Given the description of an element on the screen output the (x, y) to click on. 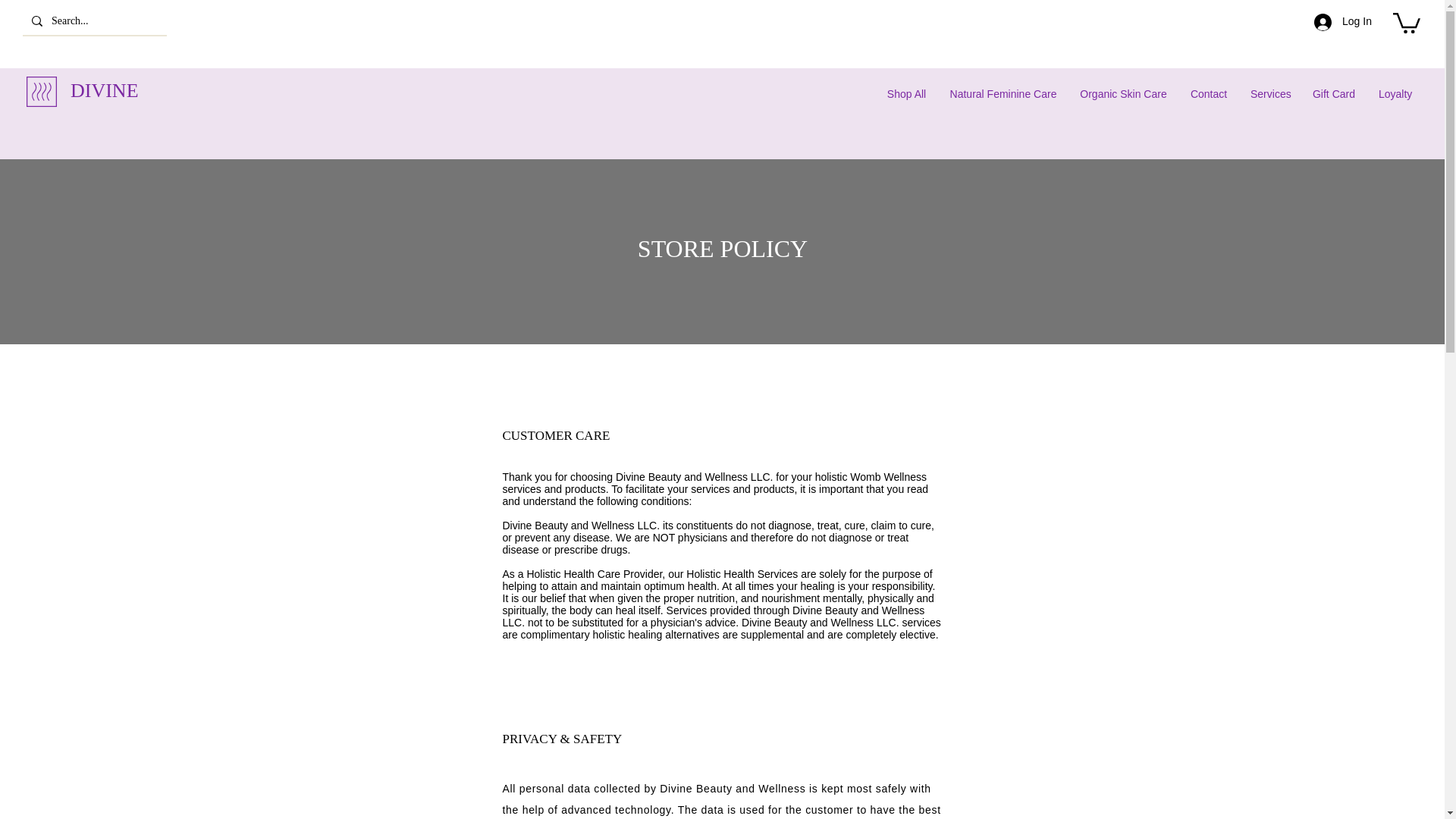
Gift Card (1333, 94)
Natural Feminine Care (1002, 94)
Organic Skin Care (1122, 94)
Services (1269, 94)
Loyalty (1394, 94)
Log In (1342, 22)
Contact (1208, 94)
Shop All (906, 94)
DIVINE (103, 90)
